Given the description of an element on the screen output the (x, y) to click on. 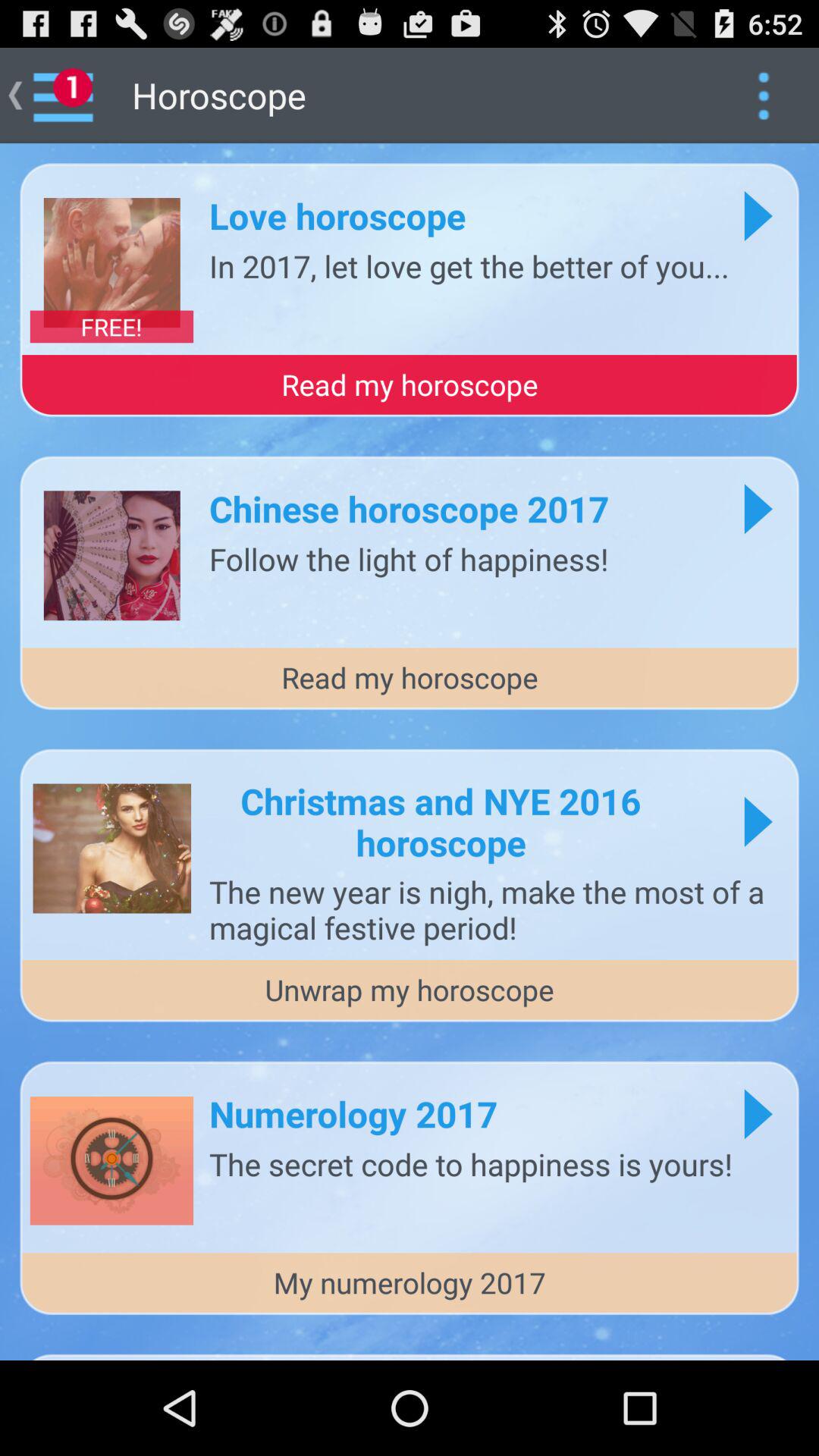
open the icon above the read my horoscope app (469, 265)
